Given the description of an element on the screen output the (x, y) to click on. 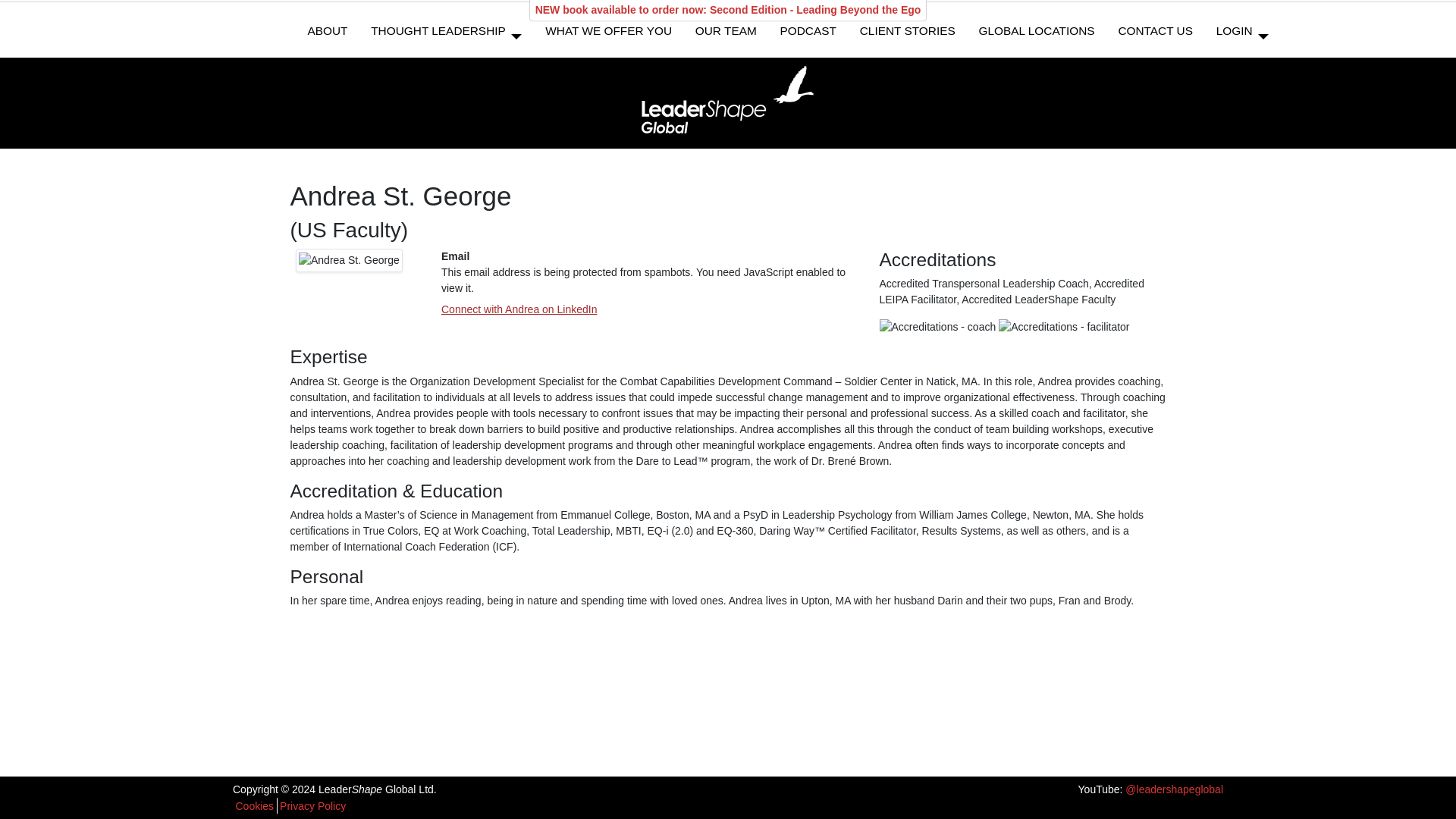
OUR TEAM (726, 37)
CONTACT US (1155, 37)
THOUGHT LEADERSHIP (438, 37)
PODCAST (807, 37)
GLOBAL LOCATIONS (1036, 37)
Cookies (253, 805)
WHAT WE OFFER YOU (607, 37)
ABOUT (327, 37)
LOGIN (1233, 37)
Connect with Andrea on LinkedIn (518, 309)
CLIENT STORIES (907, 37)
Privacy Policy (312, 805)
